Given the description of an element on the screen output the (x, y) to click on. 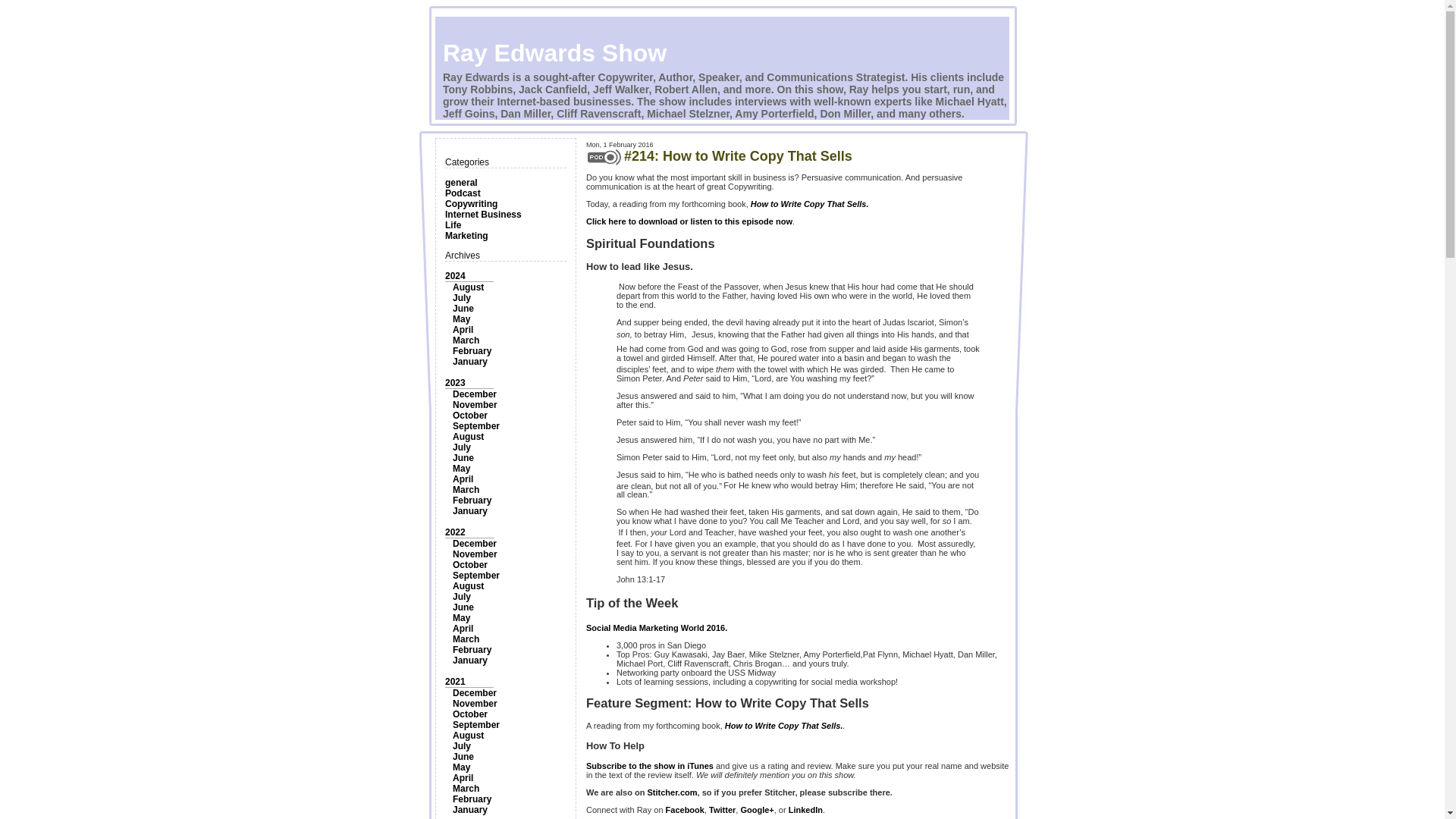
May (461, 617)
Internet Business (483, 214)
September (475, 425)
June (463, 308)
June (463, 457)
November (474, 553)
Life (453, 225)
February (472, 649)
September (475, 575)
December (474, 543)
